Given the description of an element on the screen output the (x, y) to click on. 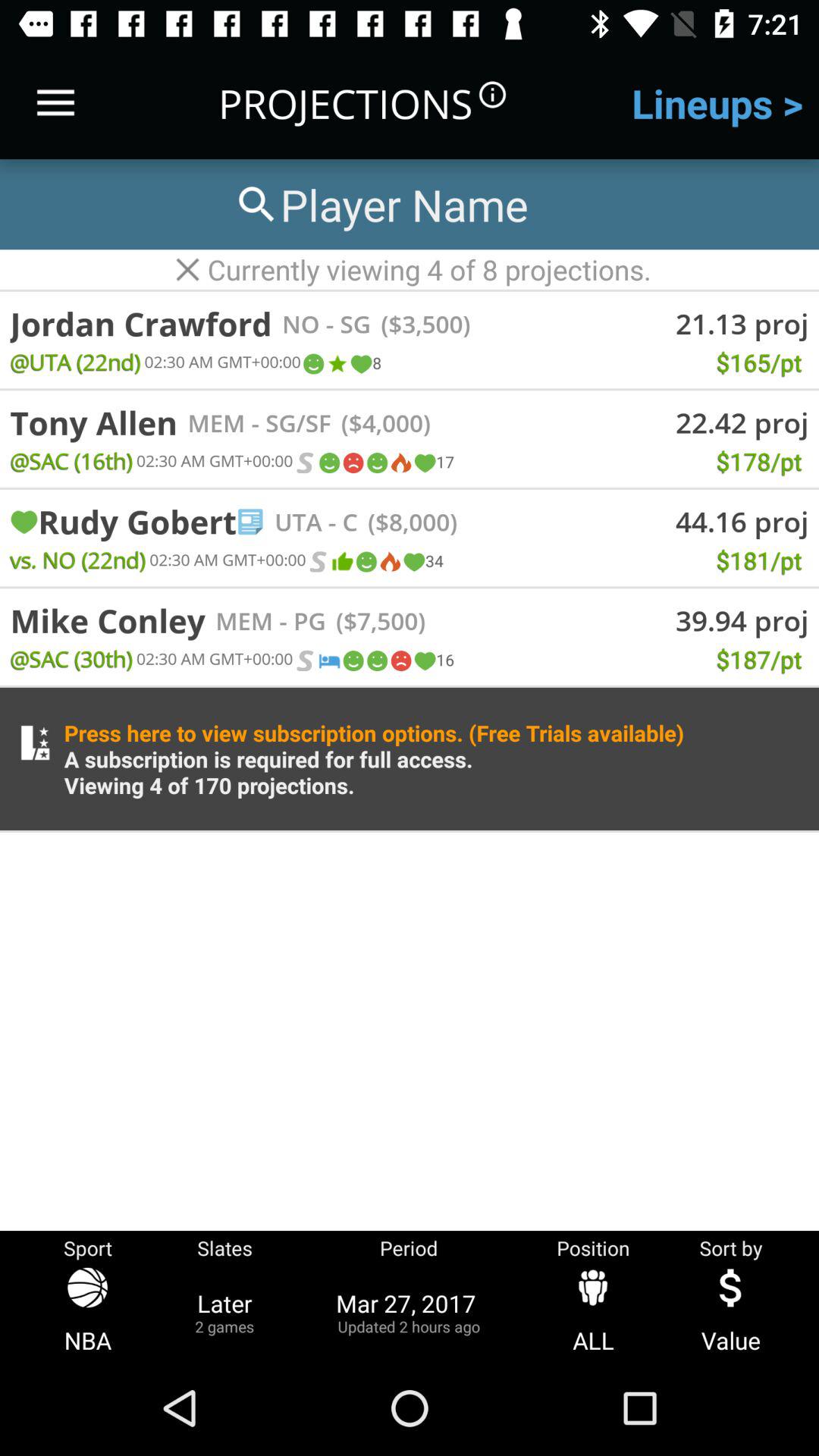
tap the item above the 39.94 proj item (550, 599)
